Given the description of an element on the screen output the (x, y) to click on. 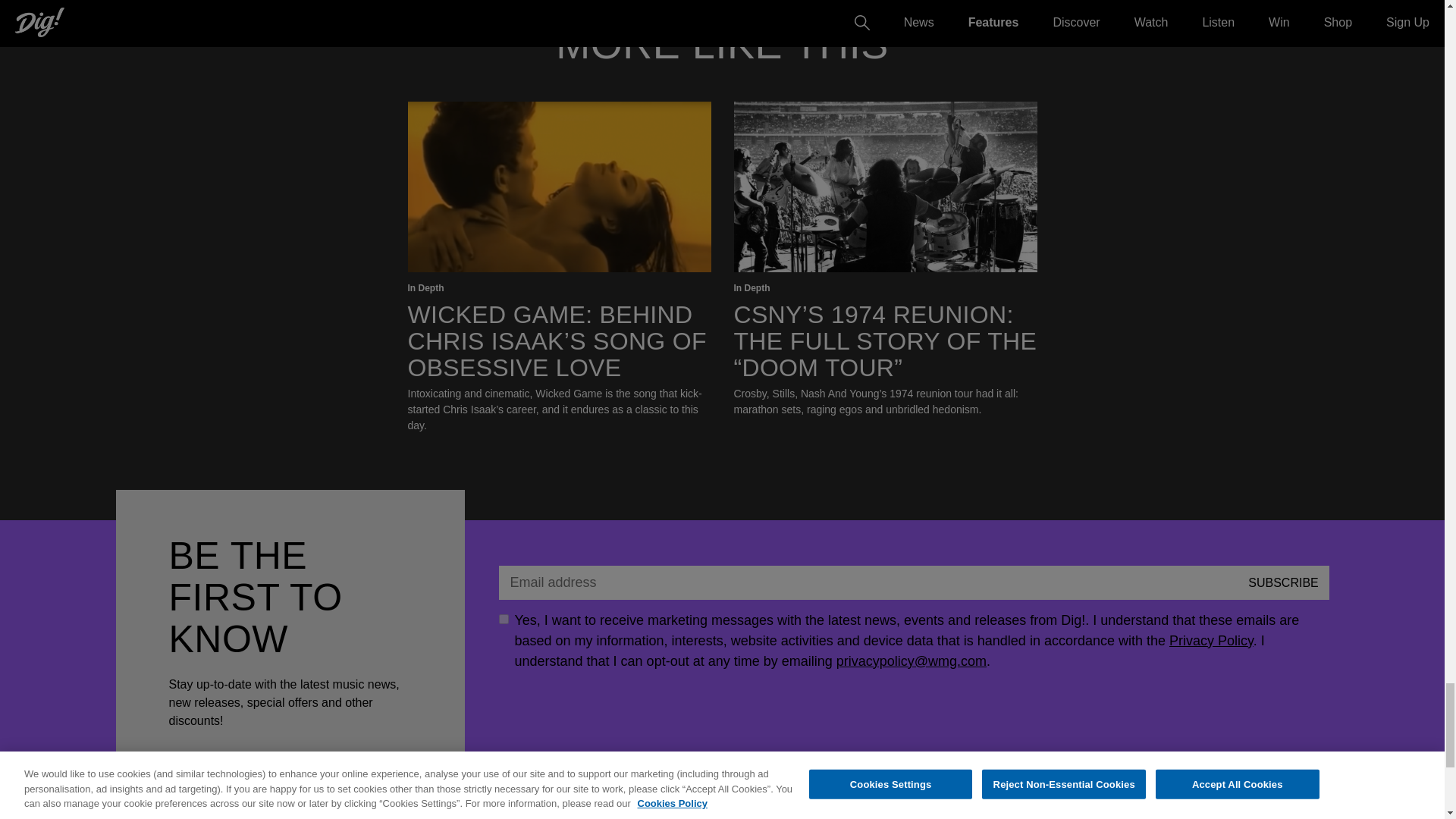
Subscribe (1282, 582)
agree (503, 619)
